Given the description of an element on the screen output the (x, y) to click on. 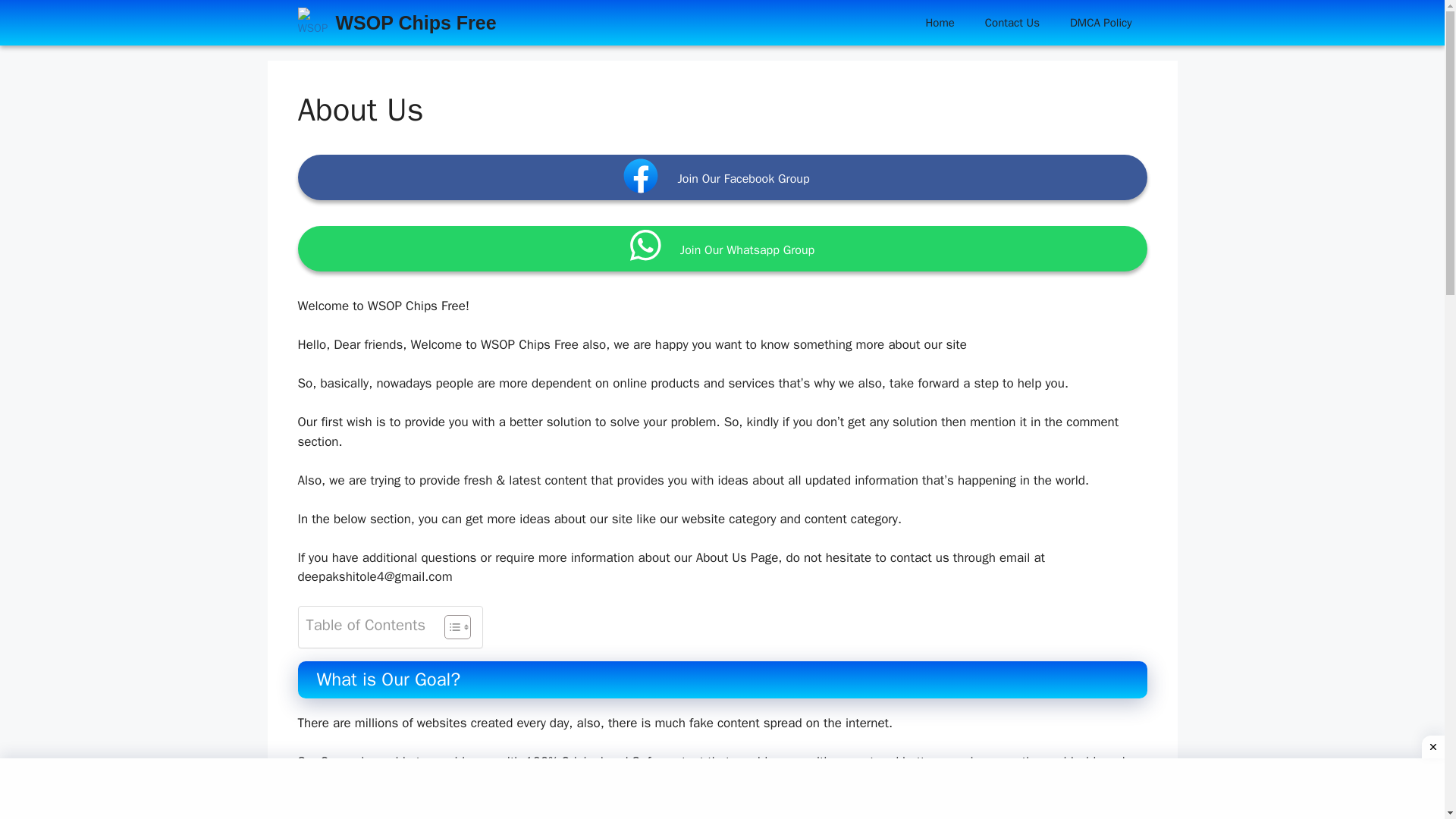
Contact Us (1011, 22)
Join Our Whatsapp Group (722, 248)
Join Our Facebook Group (722, 176)
WSOP Chips Free (415, 22)
DMCA Policy (1100, 22)
Home (939, 22)
